Given the description of an element on the screen output the (x, y) to click on. 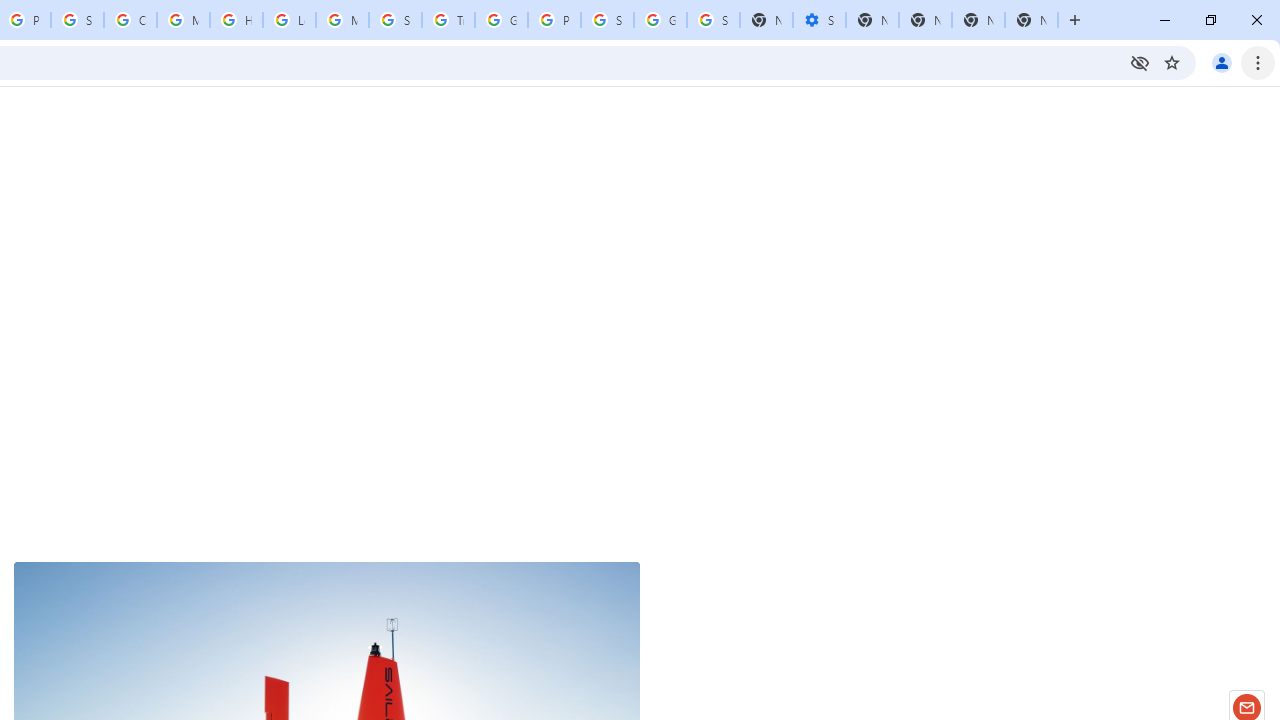
Sign in - Google Accounts (713, 20)
Trusted Information and Content - Google Safety Center (448, 20)
Settings - Performance (819, 20)
Sign in - Google Accounts (607, 20)
